Given the description of an element on the screen output the (x, y) to click on. 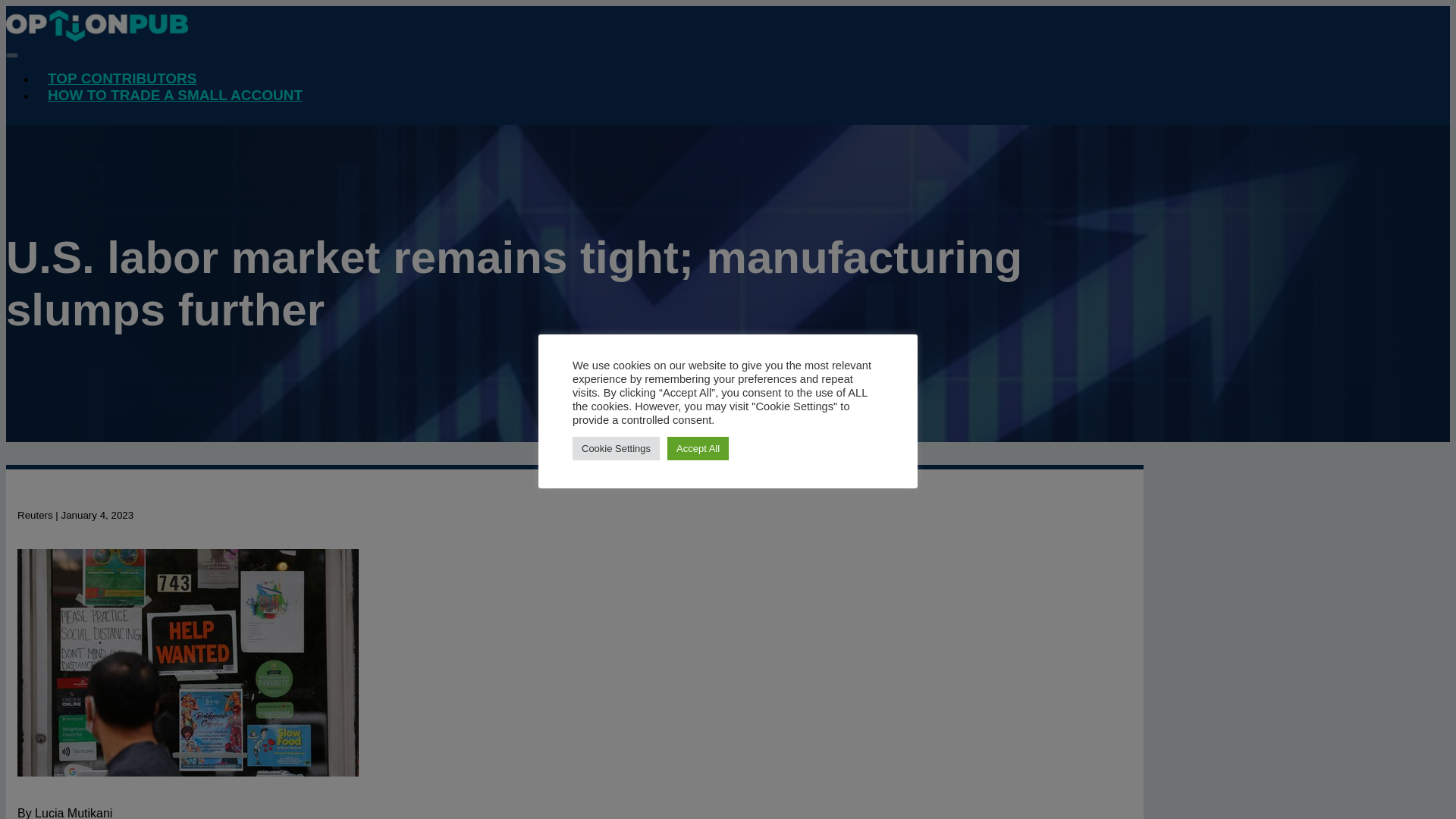
HOW TO TRADE A SMALL ACCOUNT (175, 95)
Cookie Settings (615, 448)
TOP CONTRIBUTORS (122, 78)
Accept All (697, 448)
